Given the description of an element on the screen output the (x, y) to click on. 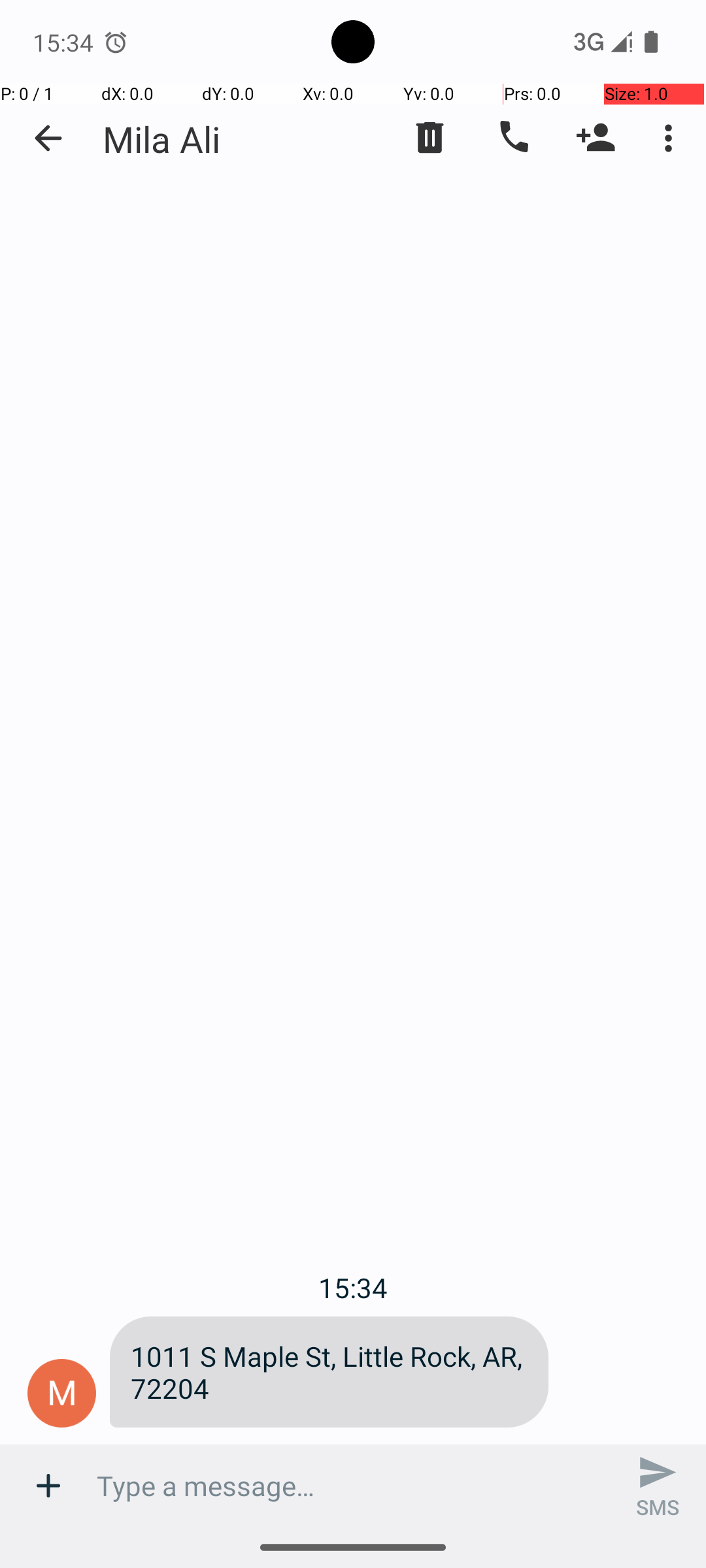
Mila Ali Element type: android.widget.TextView (161, 138)
1011 S Maple St, Little Rock, AR, 72204 Element type: android.widget.TextView (328, 1371)
